Given the description of an element on the screen output the (x, y) to click on. 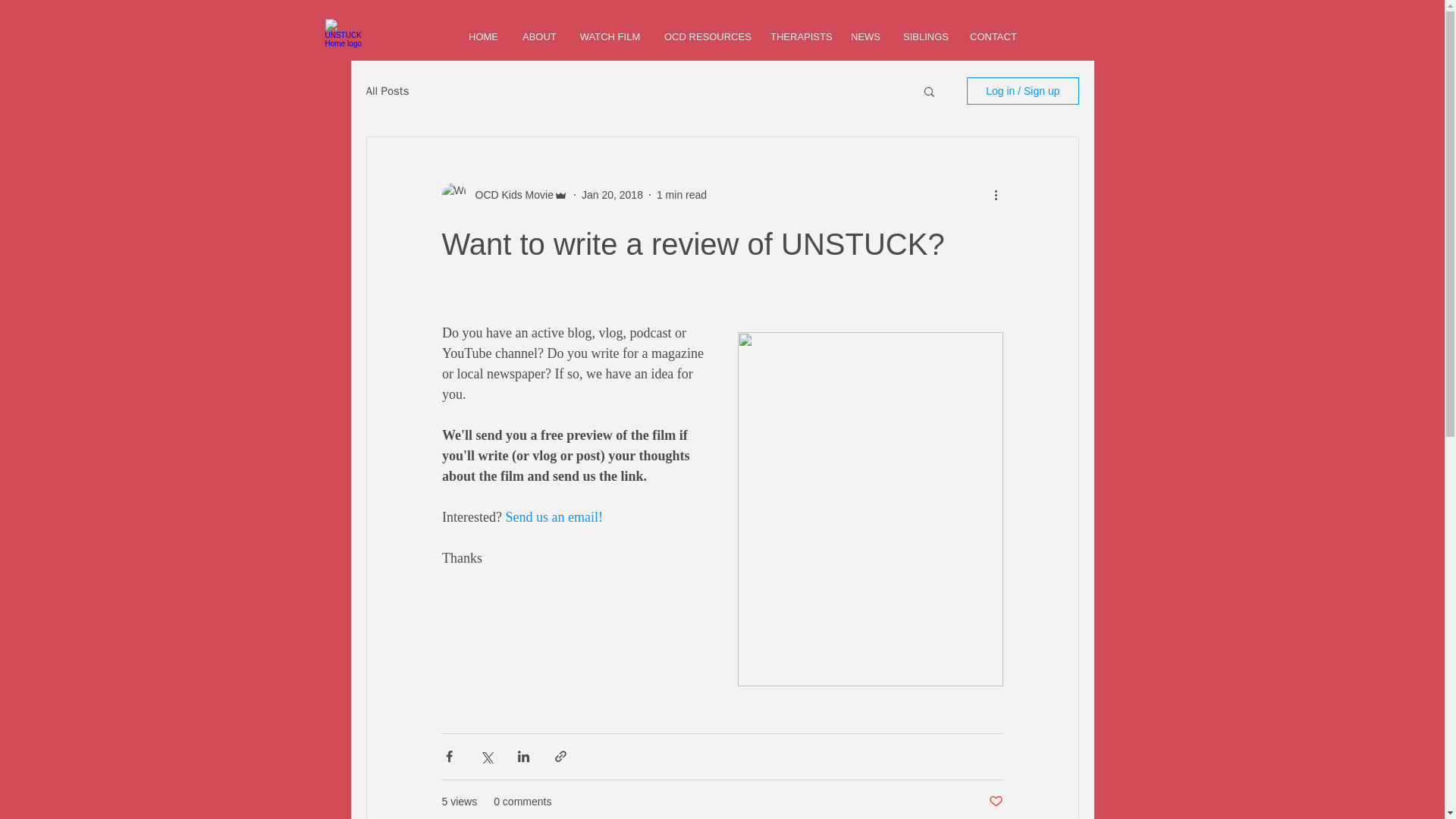
Send us an email! (553, 516)
THERAPISTS (798, 36)
CONTACT (992, 36)
All Posts (387, 90)
ABOUT (539, 36)
WATCH FILM (609, 36)
SIBLINGS (924, 36)
OCD Kids Movie (509, 194)
OCD RESOURCES (705, 36)
Post not marked as liked (995, 801)
